Given the description of an element on the screen output the (x, y) to click on. 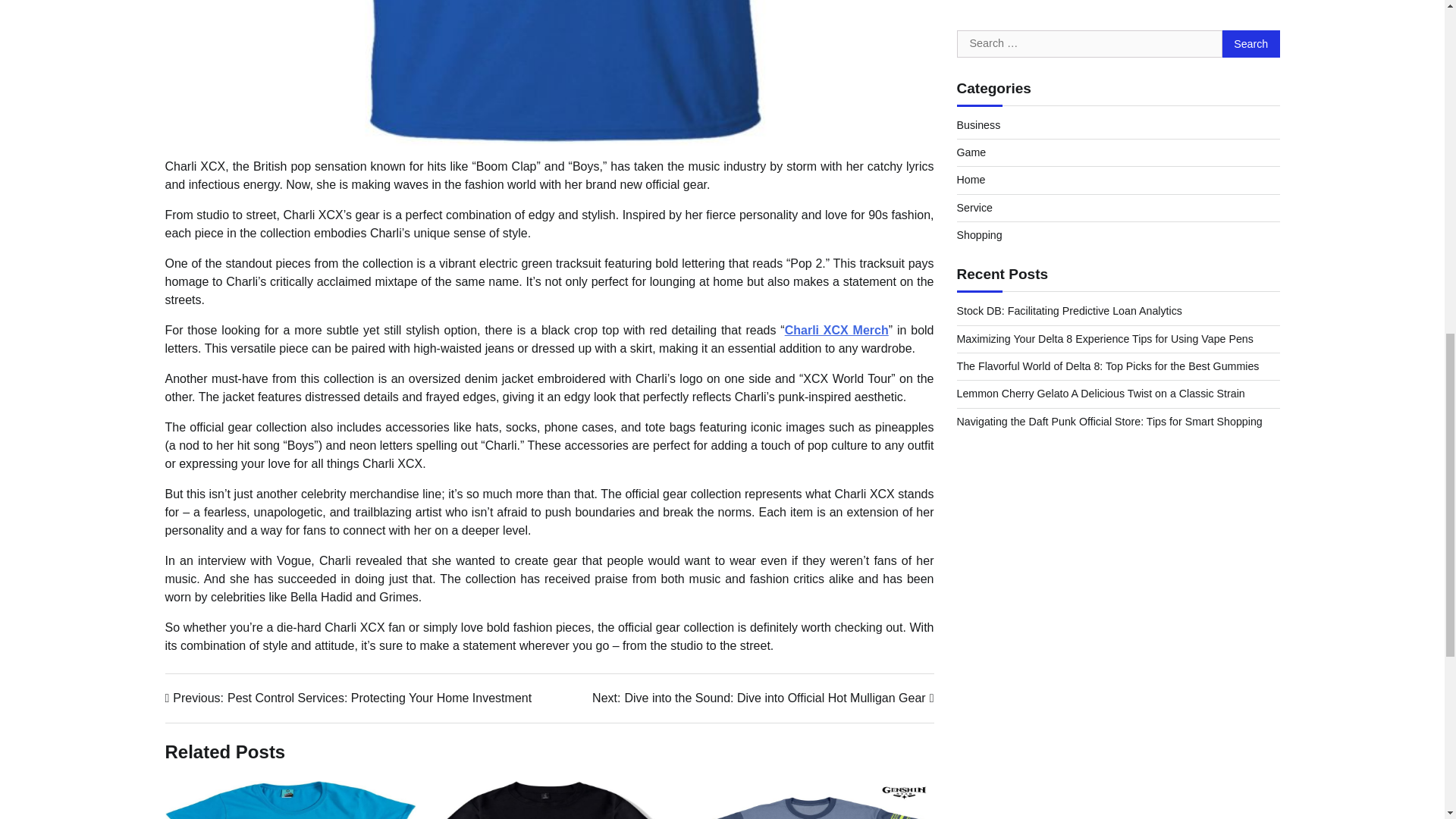
Charli XCX Merch (836, 329)
